Given the description of an element on the screen output the (x, y) to click on. 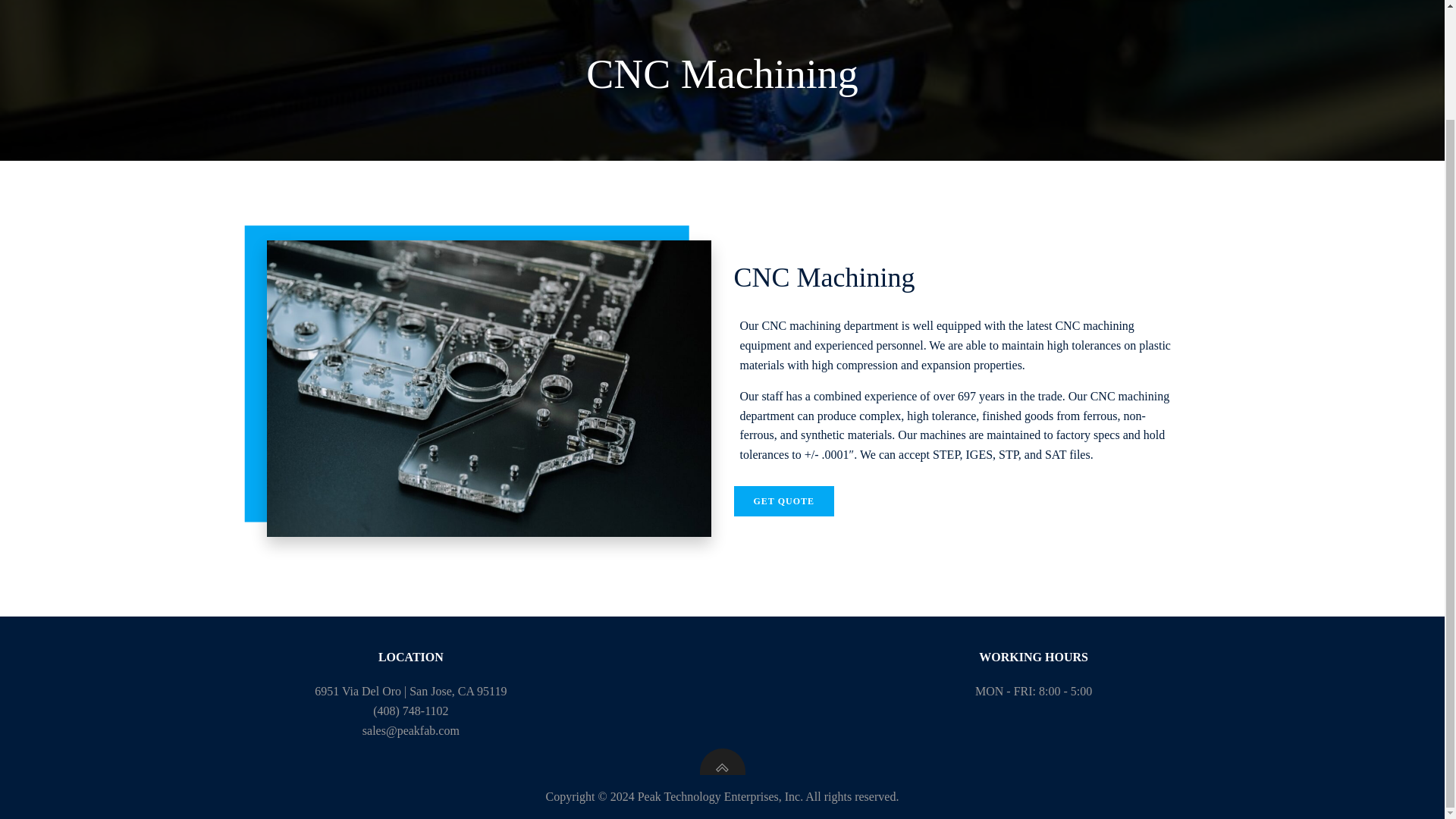
GET QUOTE (783, 501)
